Given the description of an element on the screen output the (x, y) to click on. 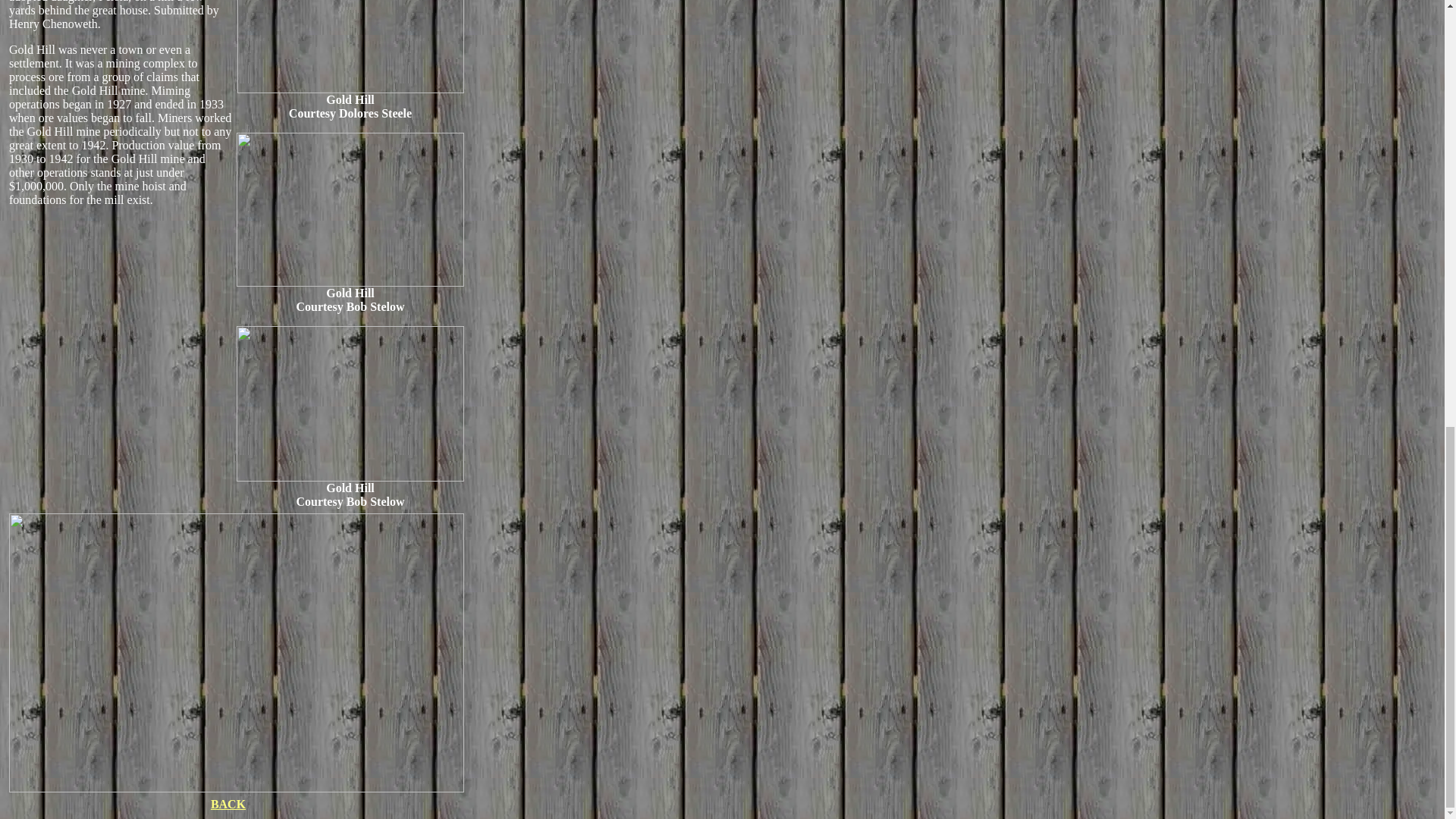
BACK (228, 802)
